Given the description of an element on the screen output the (x, y) to click on. 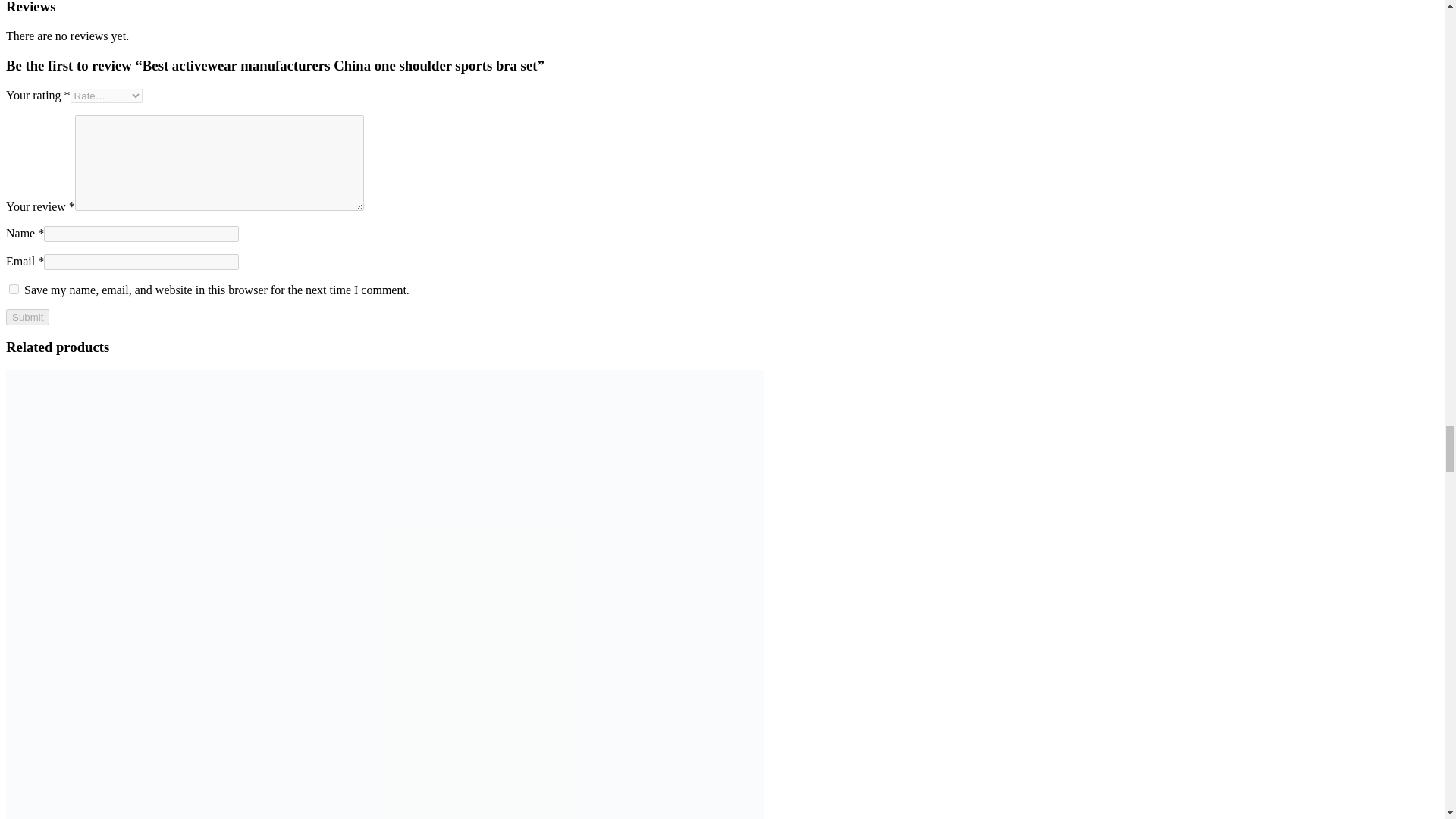
Submit (27, 317)
yes (13, 289)
